Given the description of an element on the screen output the (x, y) to click on. 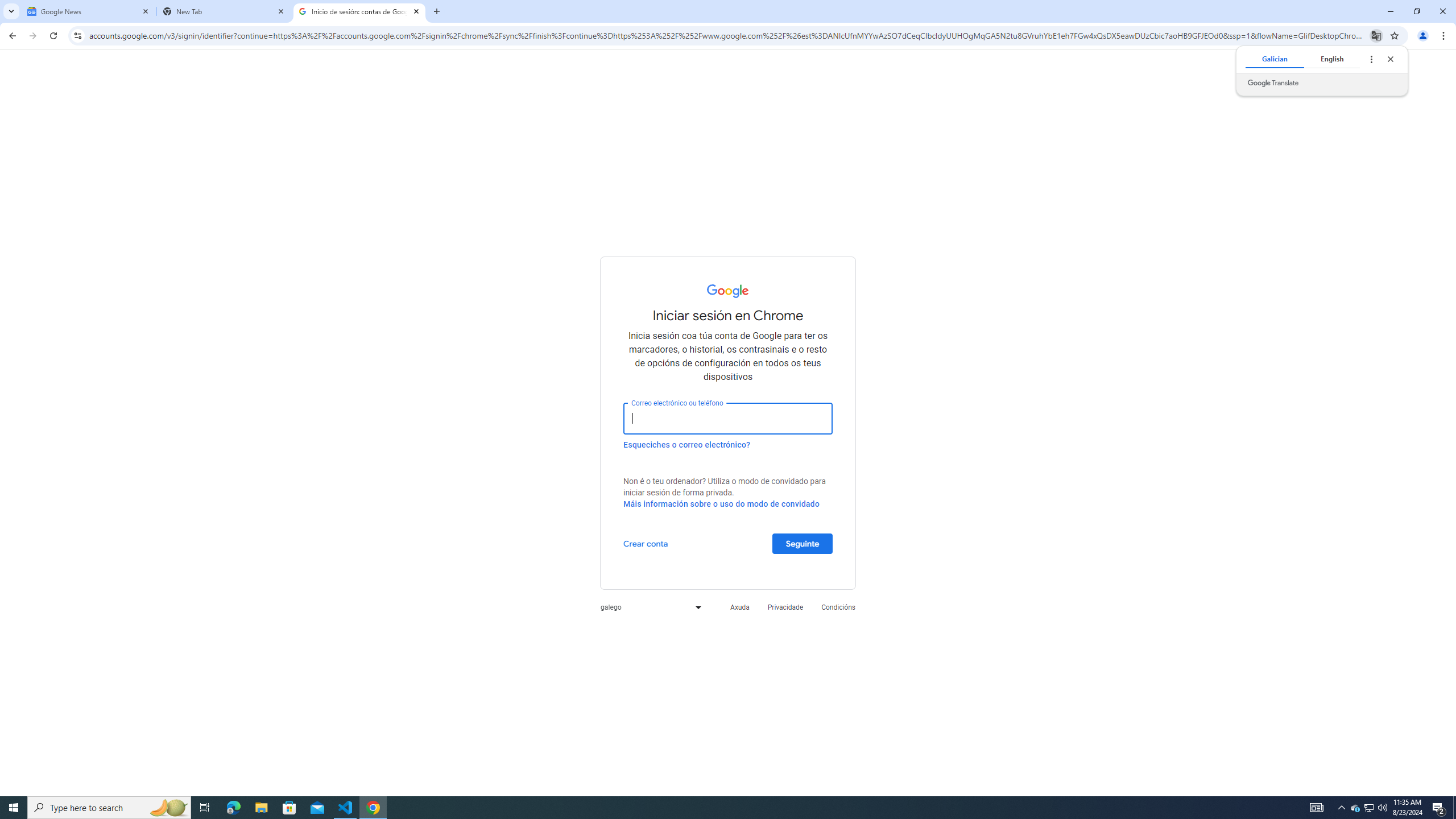
Crear conta (645, 543)
Axuda (739, 606)
